Given the description of an element on the screen output the (x, y) to click on. 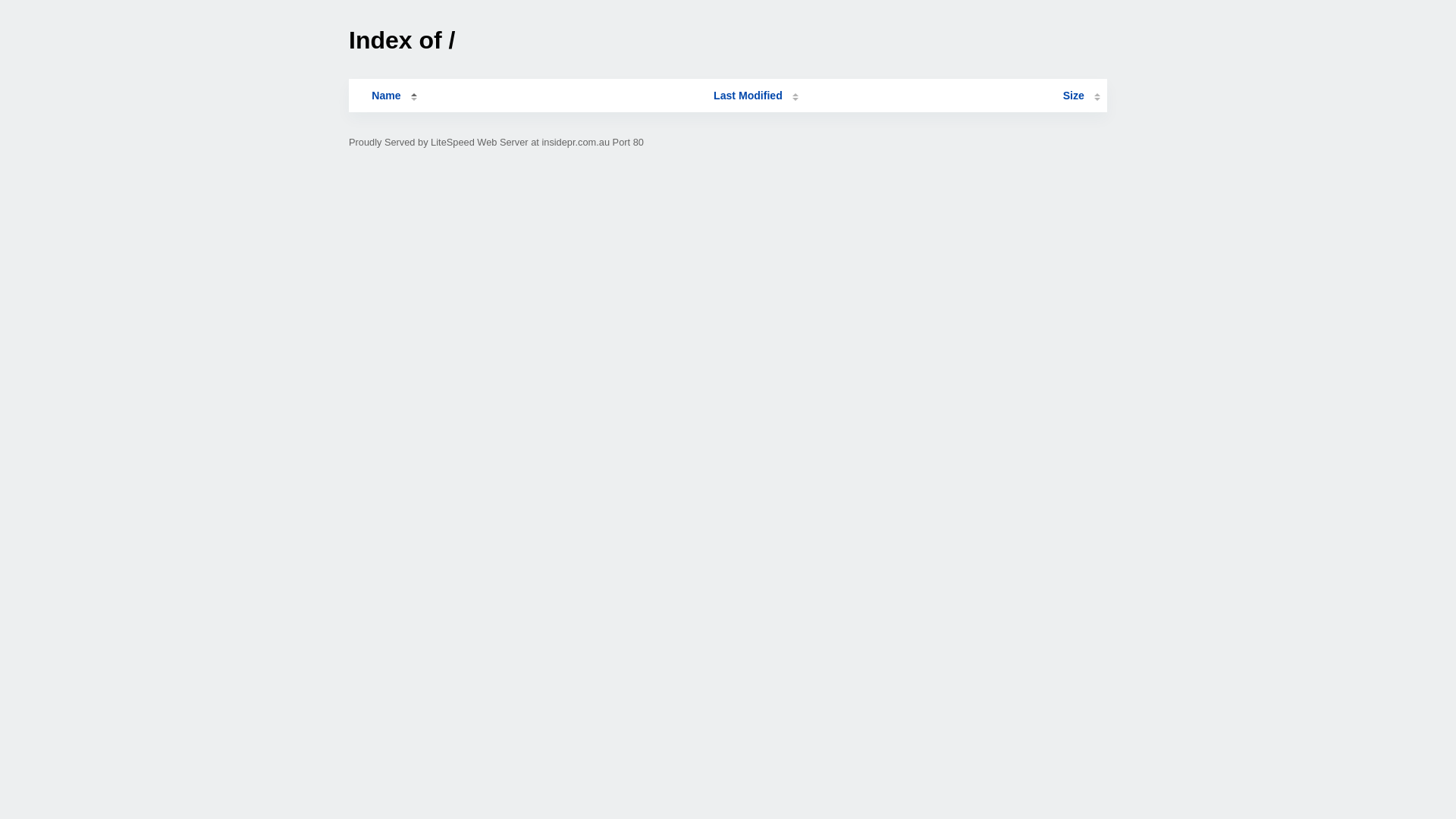
Size Element type: text (1081, 95)
Last Modified Element type: text (755, 95)
Name Element type: text (385, 95)
